Given the description of an element on the screen output the (x, y) to click on. 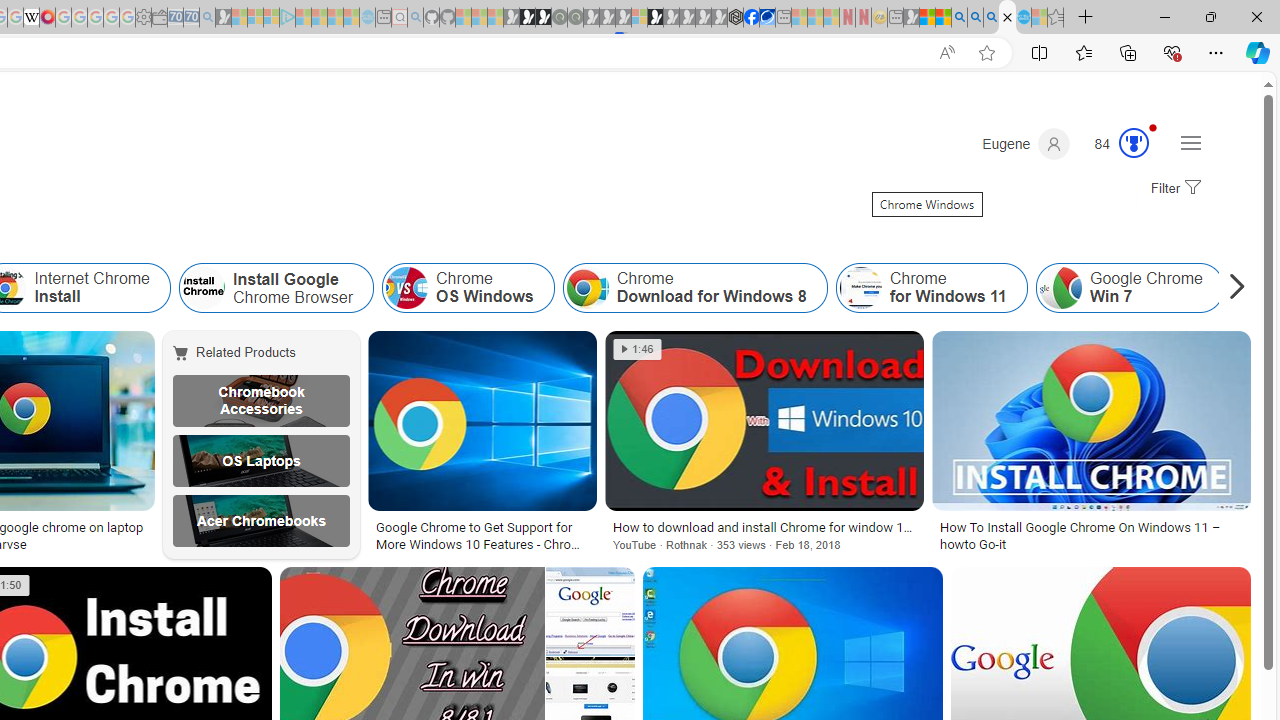
Animation (1153, 127)
Target page - Wikipedia (31, 17)
Chromebook Accessories (260, 400)
Install Google Chrome Browser (204, 287)
1:46 (637, 349)
